Given the description of an element on the screen output the (x, y) to click on. 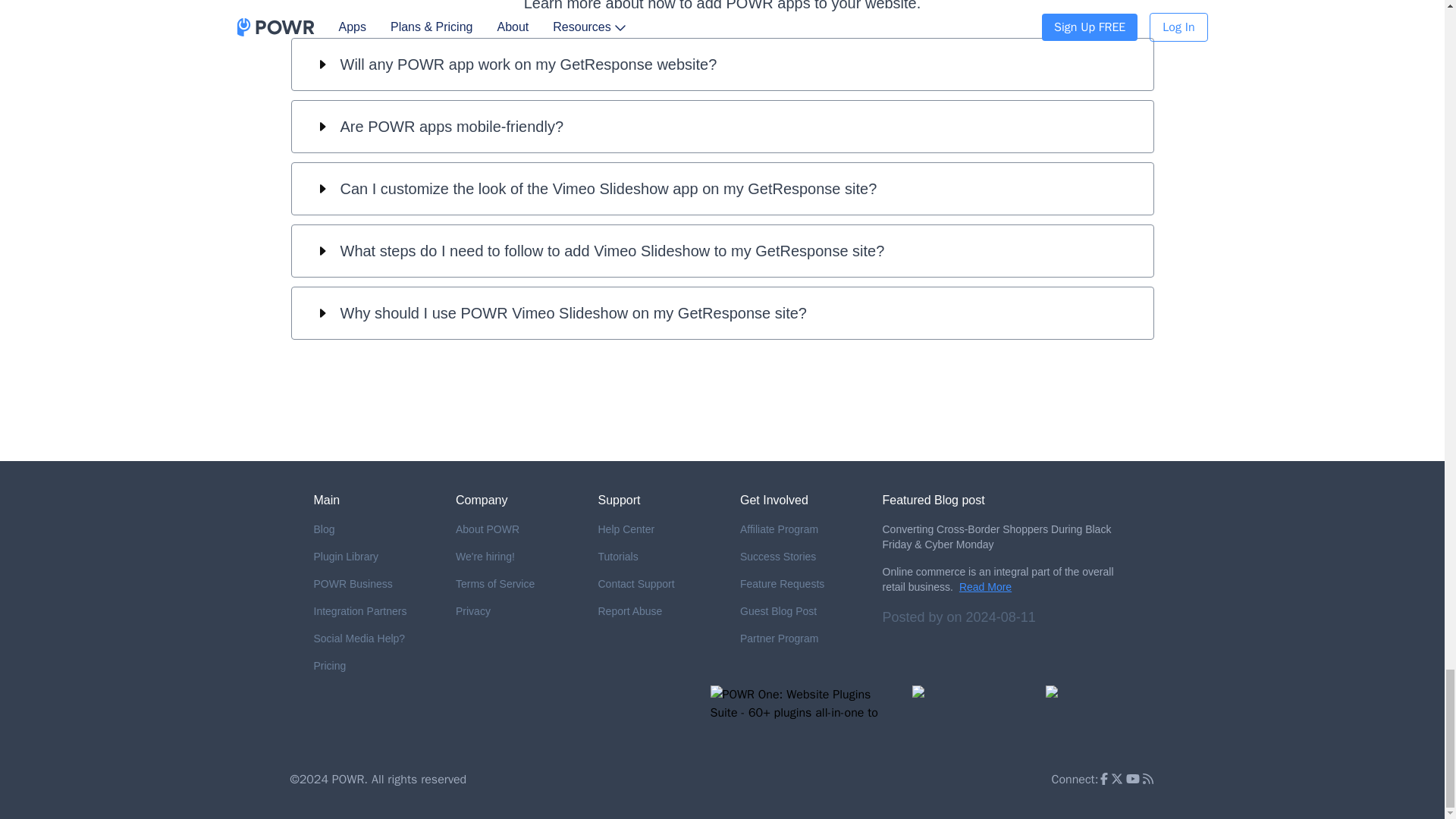
Are POWR apps mobile-friendly? (722, 126)
Blog (373, 529)
Read reviews of POWR on G2 (971, 715)
Will any POWR app work on my GetResponse website? (722, 64)
